Given the description of an element on the screen output the (x, y) to click on. 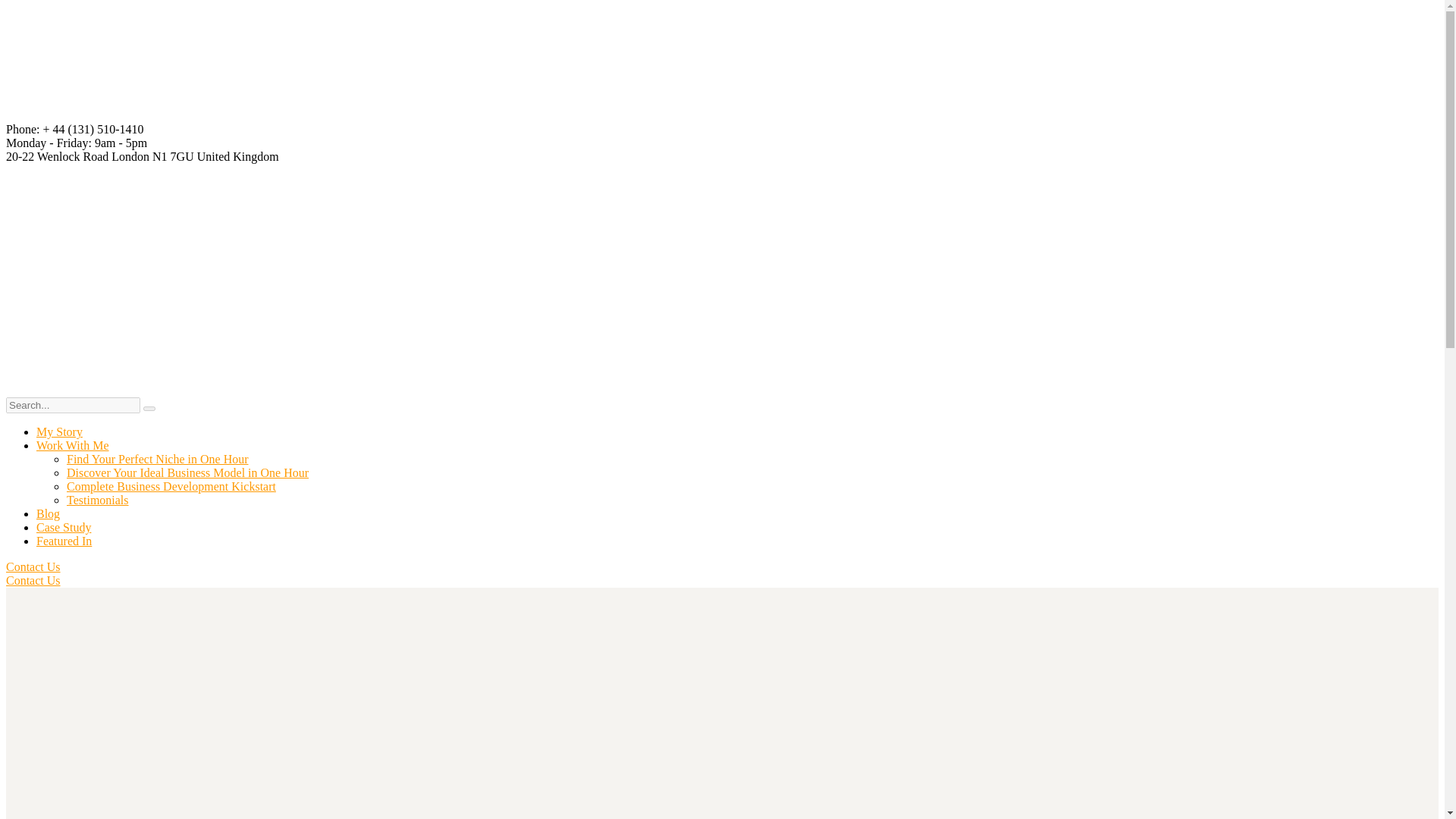
Miha Matlievski - Fail Coach (118, 115)
Miha Matlievski - Fail Coach (346, 273)
Testimonials (97, 499)
Contact Us (33, 566)
Contact Us (33, 580)
Miha Matlievski - Fail Coach (346, 115)
Work With Me (72, 445)
Find Your Perfect Niche in One Hour (157, 459)
Miha Matlievski - Fail Coach (118, 273)
Featured In (63, 540)
Miha Matlievski - Fail Coach (574, 273)
Discover Your Ideal Business Model in One Hour (187, 472)
Case Study (63, 526)
Miha Matlievski - Fail Coach (574, 115)
Complete Business Development Kickstart (171, 486)
